Given the description of an element on the screen output the (x, y) to click on. 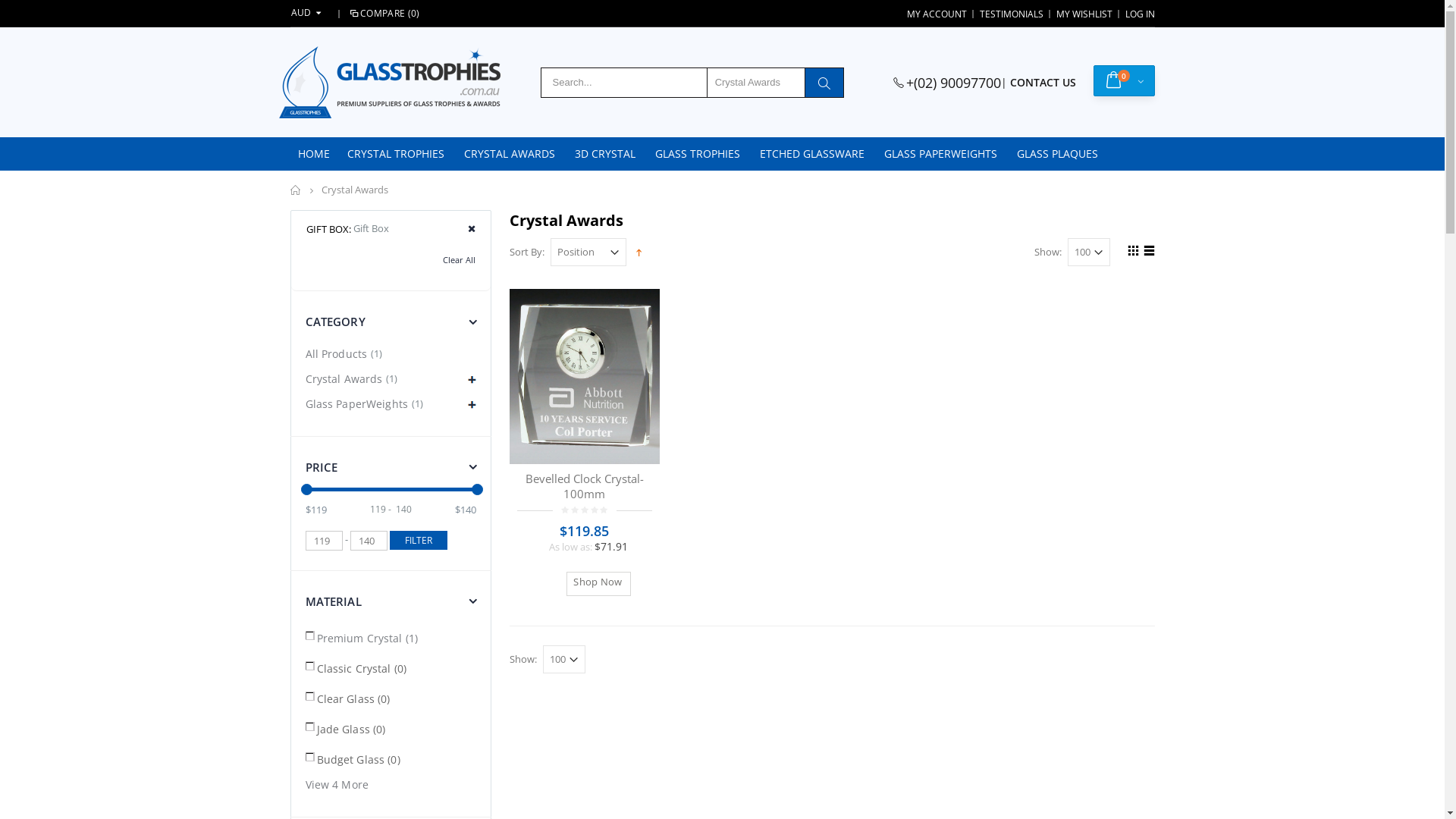
COMPARE (0) Element type: text (383, 13)
Premium Crystal (1) Element type: text (362, 635)
HOME Element type: text (312, 153)
Budget Glass (0) Element type: text (353, 756)
List Element type: hover (1145, 252)
CRYSTAL AWARDS Element type: text (509, 153)
Clear All Element type: text (458, 259)
ETCHED GLASSWARE Element type: text (812, 153)
 Shop Now Element type: text (598, 583)
Bevelled Clock Crystal-100mm Element type: hover (584, 376)
Remove This Item Element type: text (466, 229)
As low as: $71.91 Element type: text (584, 545)
TESTIMONIALS Element type: text (1011, 13)
CONTACT US Element type: text (1043, 82)
View 4 More Element type: text (338, 784)
Bevelled Clock Crystal-100mm Element type: text (584, 490)
GLASS TROPHIES Element type: text (697, 153)
FILTER Element type: text (418, 539)
Classic Crystal (0) Element type: text (357, 665)
MY ACCOUNT Element type: text (936, 13)
+(02) 90097700 Element type: text (952, 82)
GLASS PLAQUES Element type: text (1056, 153)
Jade Glass (0) Element type: text (346, 726)
GLASS PAPERWEIGHTS Element type: text (940, 153)
MY WISHLIST Element type: text (1083, 13)
Search Element type: hover (824, 82)
Clear Glass (0) Element type: text (348, 695)
Glass PaperWeights Element type: text (357, 403)
Grid Element type: hover (1130, 252)
Home Element type: text (295, 189)
Crystal Awards Element type: text (344, 378)
All Products Element type: text (337, 353)
0 Element type: text (1123, 80)
Set Descending Direction Element type: hover (638, 250)
LOG IN Element type: text (1139, 13)
glasstrophies Element type: hover (389, 82)
3D CRYSTAL Element type: text (605, 153)
CRYSTAL TROPHIES Element type: text (395, 153)
